Given the description of an element on the screen output the (x, y) to click on. 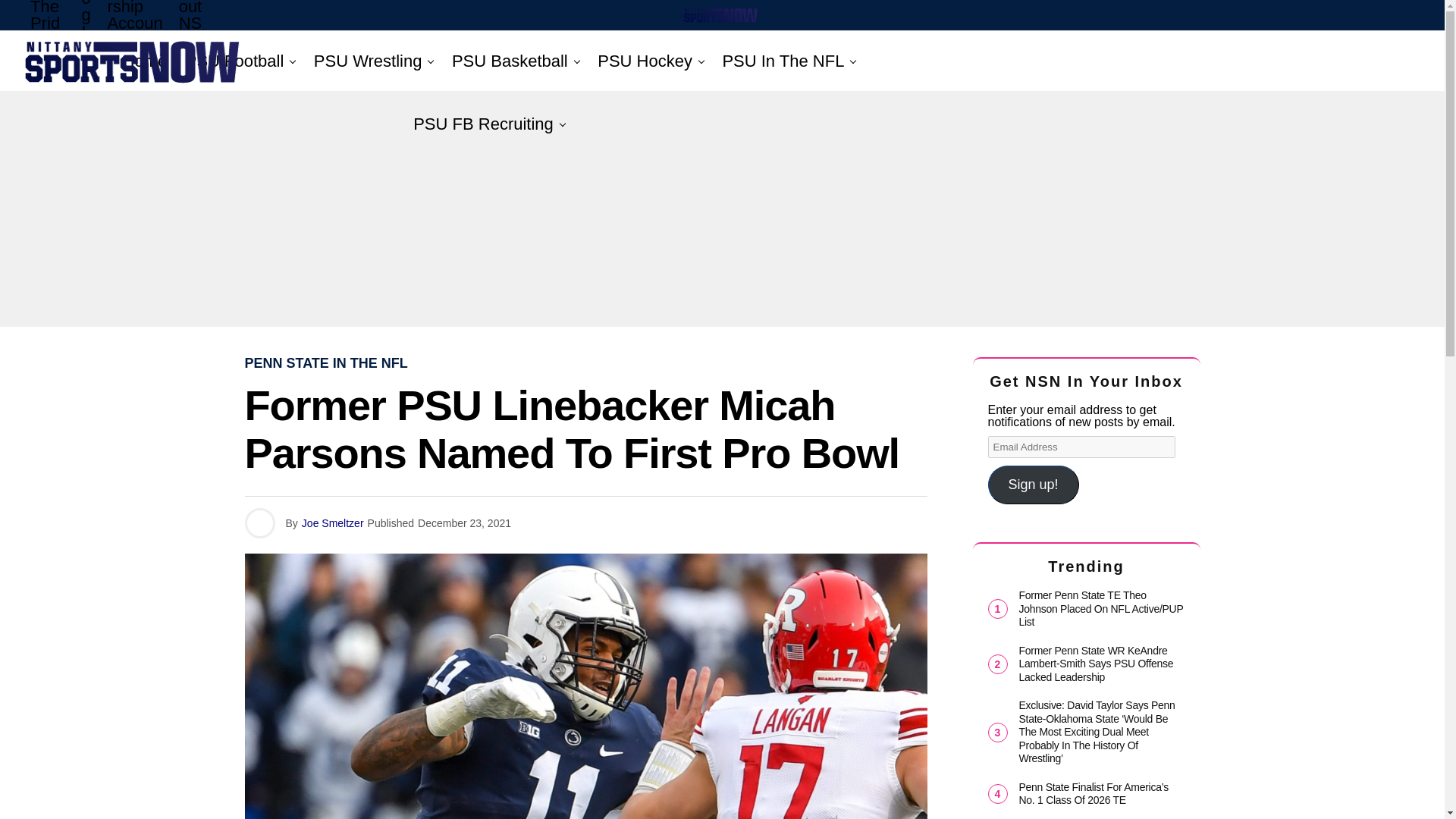
Posts by Joe Smeltzer (332, 522)
About NSN (191, 35)
PSU Wrestling (367, 61)
Log In (86, 39)
Home (144, 61)
PSU Football (234, 61)
Membership Account (134, 35)
Join The Pride (48, 35)
